Given the description of an element on the screen output the (x, y) to click on. 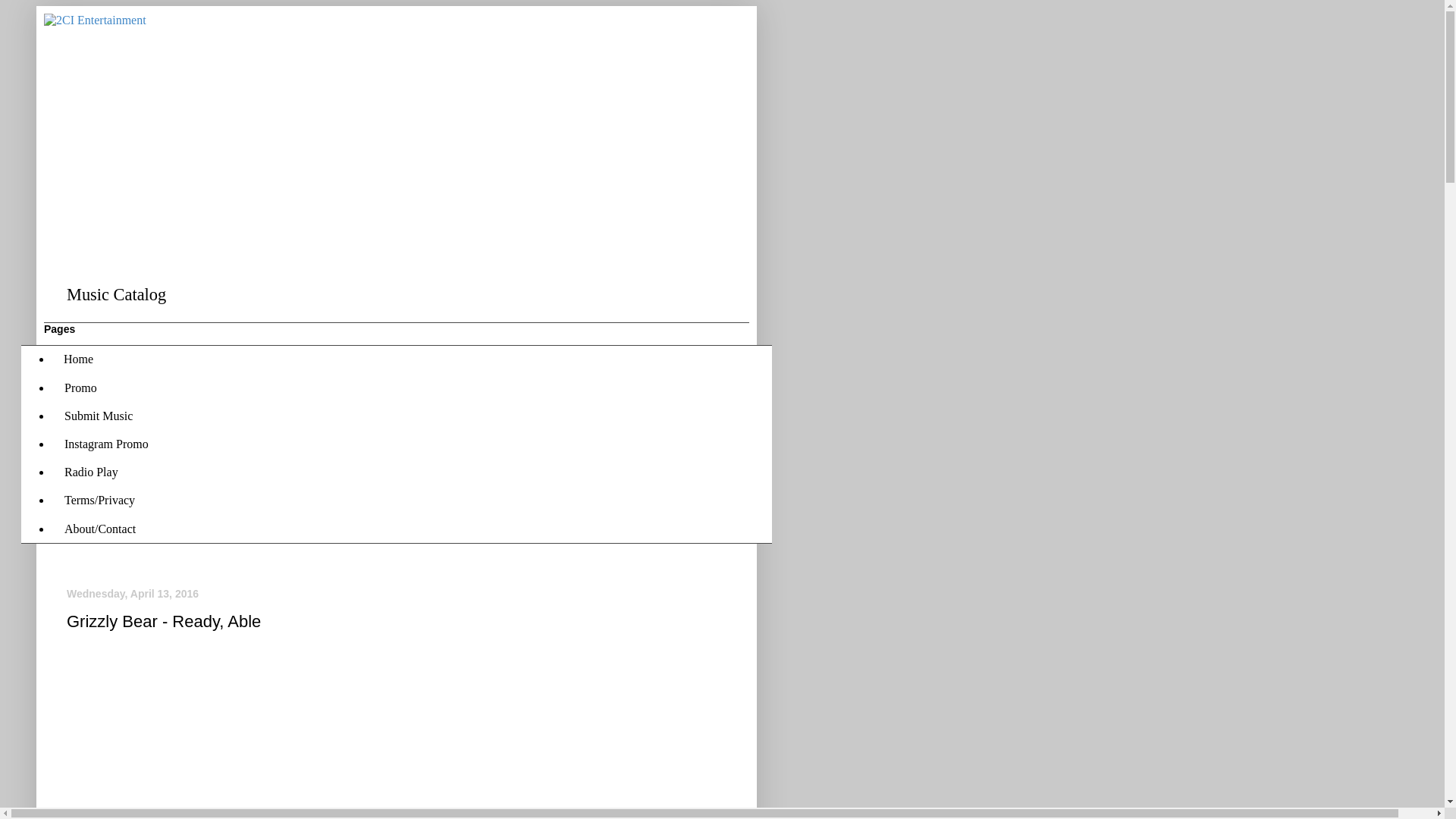
Terms/Privacy Element type: text (99, 500)
Radio Play Element type: text (90, 472)
About/Contact Element type: text (99, 528)
Promo Element type: text (80, 387)
Home Element type: text (78, 359)
Instagram Promo Element type: text (105, 443)
Submit Music Element type: text (97, 415)
